Given the description of an element on the screen output the (x, y) to click on. 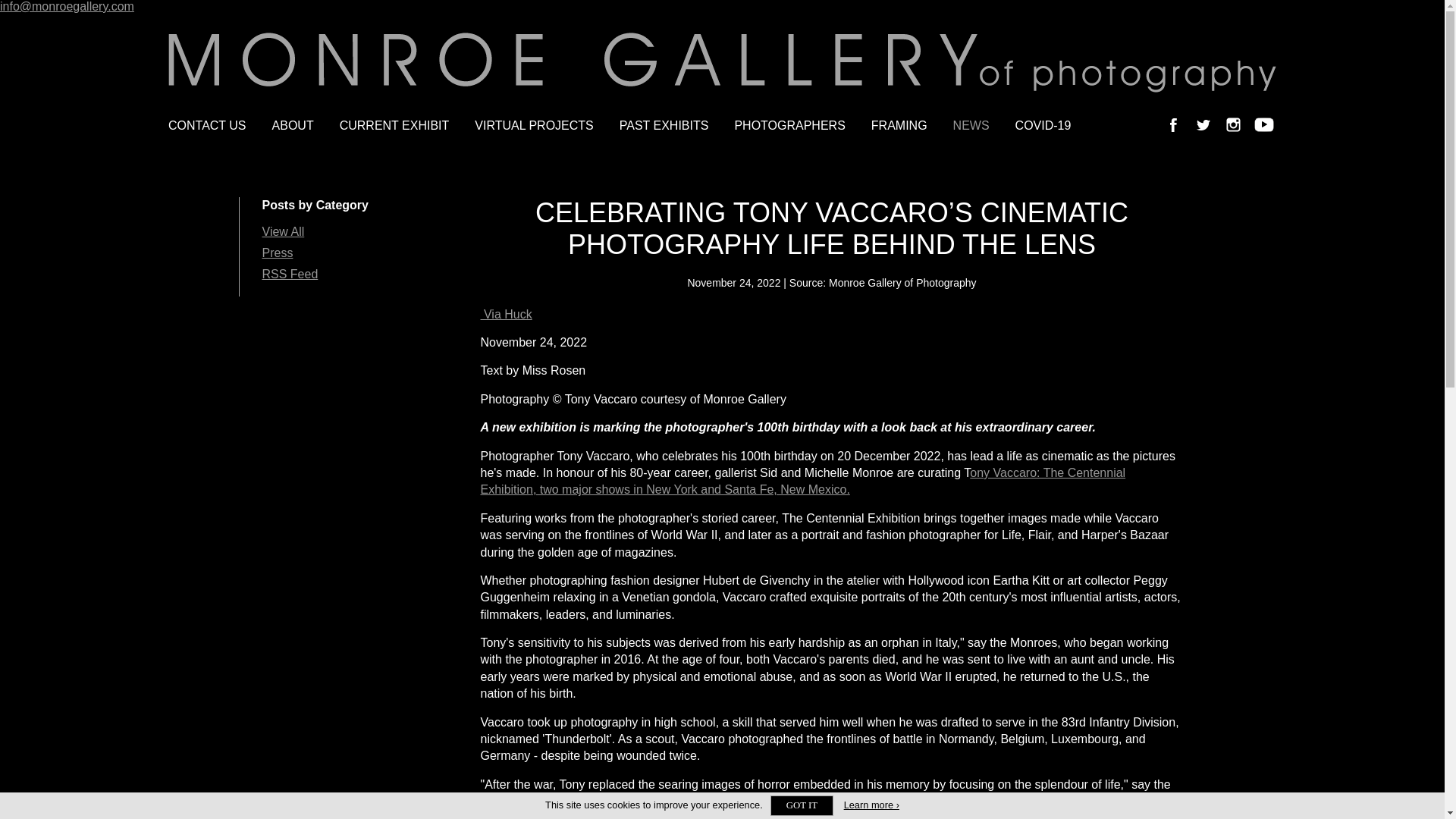
RSS Feed (290, 273)
Like Monroe Gallery on Facebook (1173, 124)
ABOUT (292, 125)
View All (283, 231)
Follow Monroe Gallery on Instagram (1233, 124)
PHOTOGRAPHERS (788, 125)
PAST EXHIBITS (664, 125)
Follow Monroe Gallery on Twitter (1202, 124)
VIRTUAL PROJECTS (533, 125)
CONTACT US (213, 125)
